Given the description of an element on the screen output the (x, y) to click on. 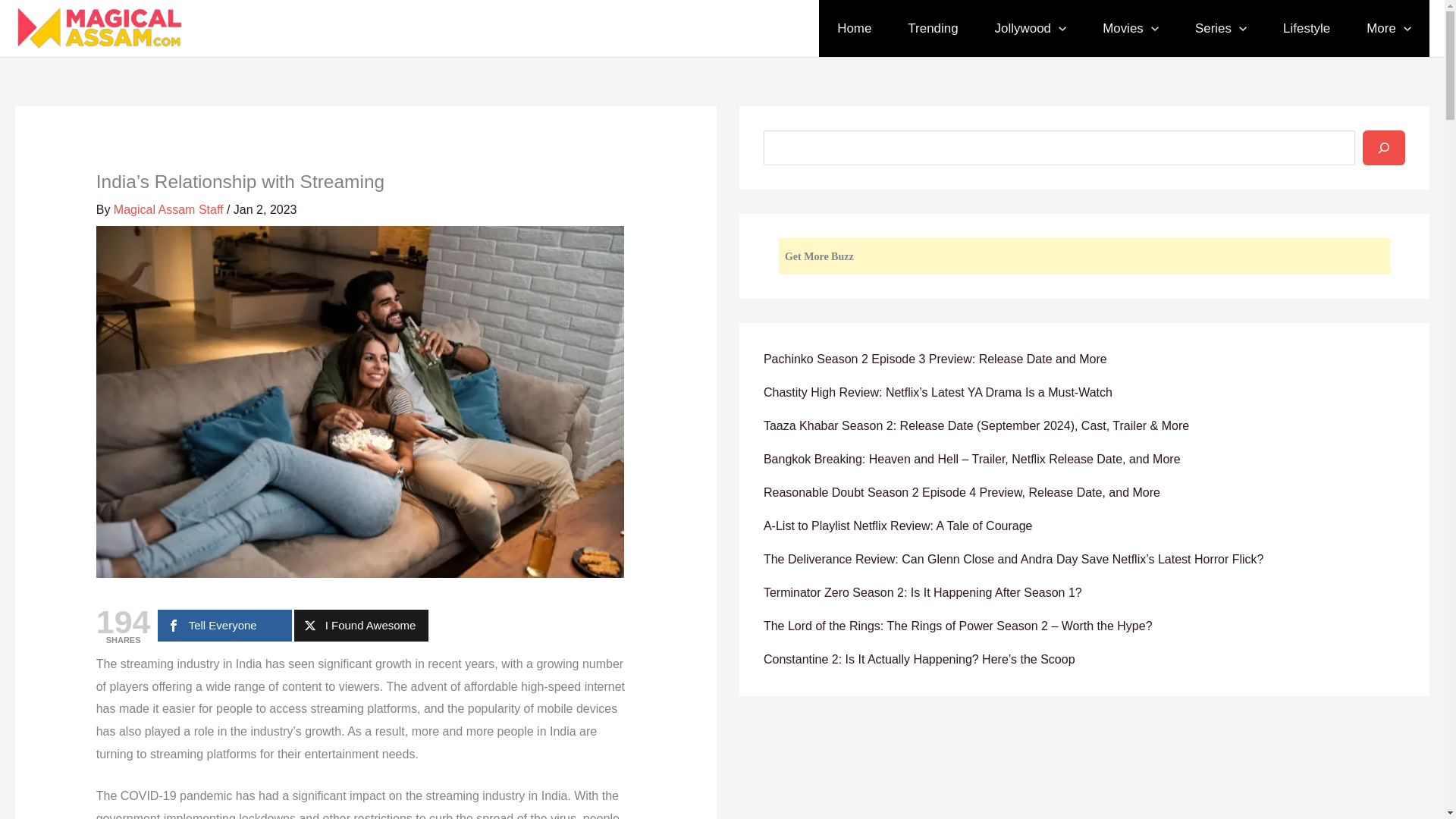
Trending (932, 28)
More (1388, 28)
Lifestyle (1306, 28)
Series (1220, 28)
Home (853, 28)
View all posts by Magical Assam Staff (168, 209)
Jollywood (1030, 28)
Movies (1130, 28)
